Given the description of an element on the screen output the (x, y) to click on. 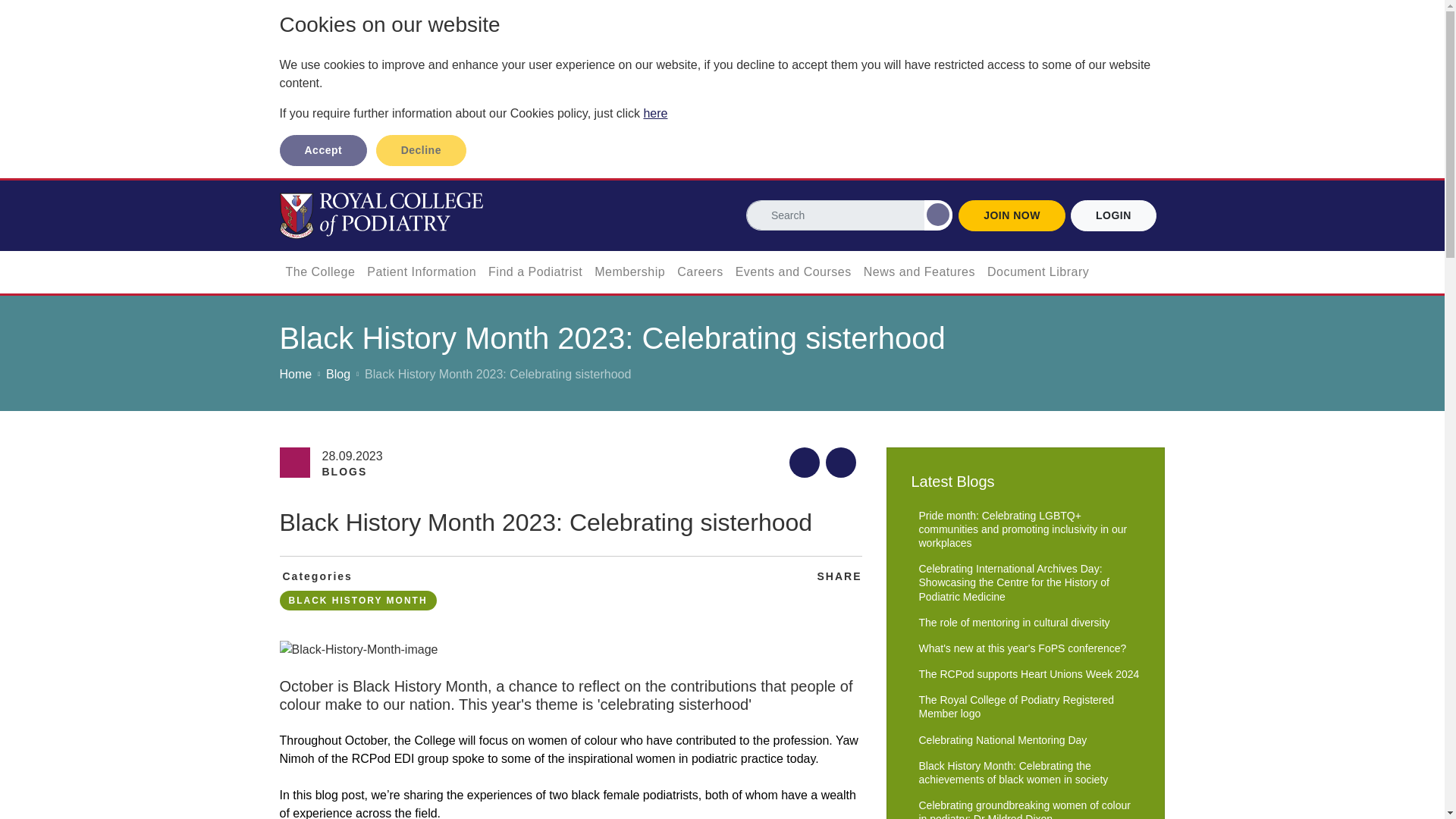
The College (320, 271)
Find a Podiatrist (534, 271)
Patient Information (421, 271)
Accept (322, 150)
JOIN NOW (1011, 214)
Decline (420, 150)
here (654, 113)
Cookies Policy (654, 113)
LOGIN (1113, 214)
Membership (629, 271)
